Given the description of an element on the screen output the (x, y) to click on. 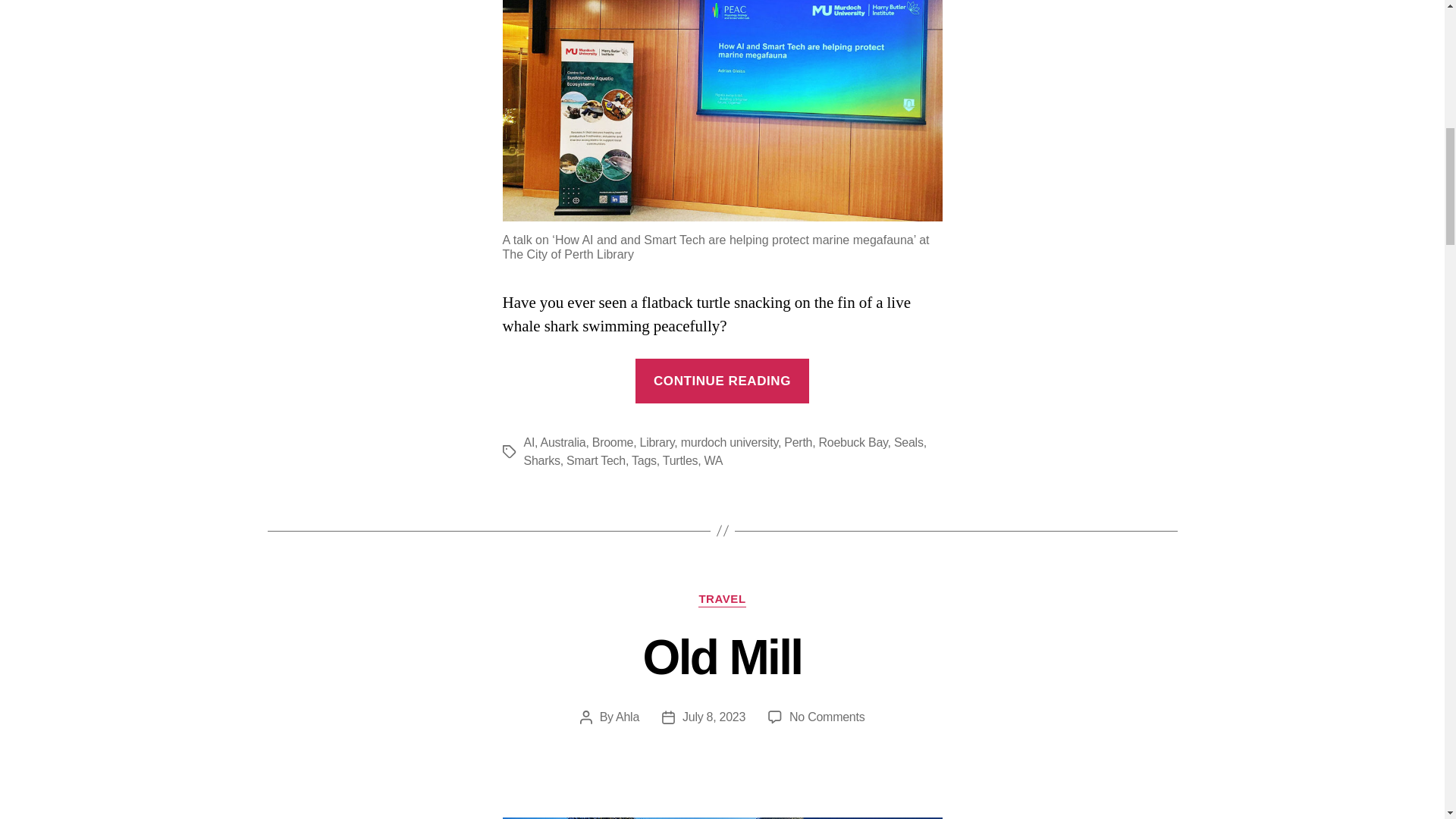
Broome (612, 441)
Seals (908, 441)
Sharks (540, 460)
July 8, 2023 (826, 716)
Turtles (713, 716)
TRAVEL (679, 460)
Old Mill (721, 599)
WA (722, 656)
Roebuck Bay (713, 460)
Tags (853, 441)
Perth (643, 460)
murdoch university (798, 441)
Library (729, 441)
Smart Tech (657, 441)
